Given the description of an element on the screen output the (x, y) to click on. 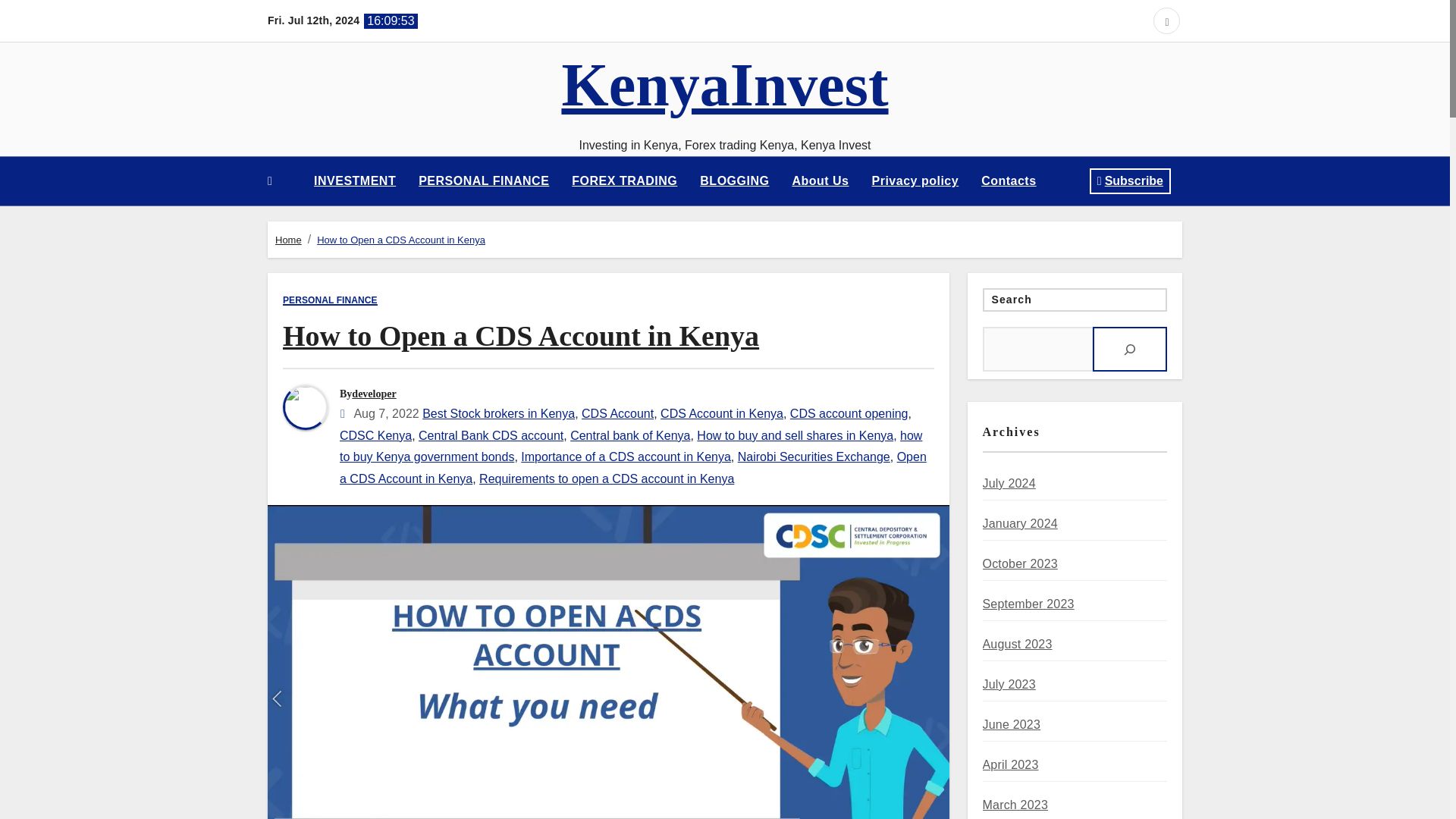
INVESTMENT (354, 180)
BLOGGING (734, 180)
Permalink to: How to Open a CDS Account in Kenya (520, 336)
About Us (820, 180)
FOREX TRADING (624, 180)
PERSONAL FINANCE (483, 180)
Privacy policy (915, 180)
Contacts (1007, 180)
